Given the description of an element on the screen output the (x, y) to click on. 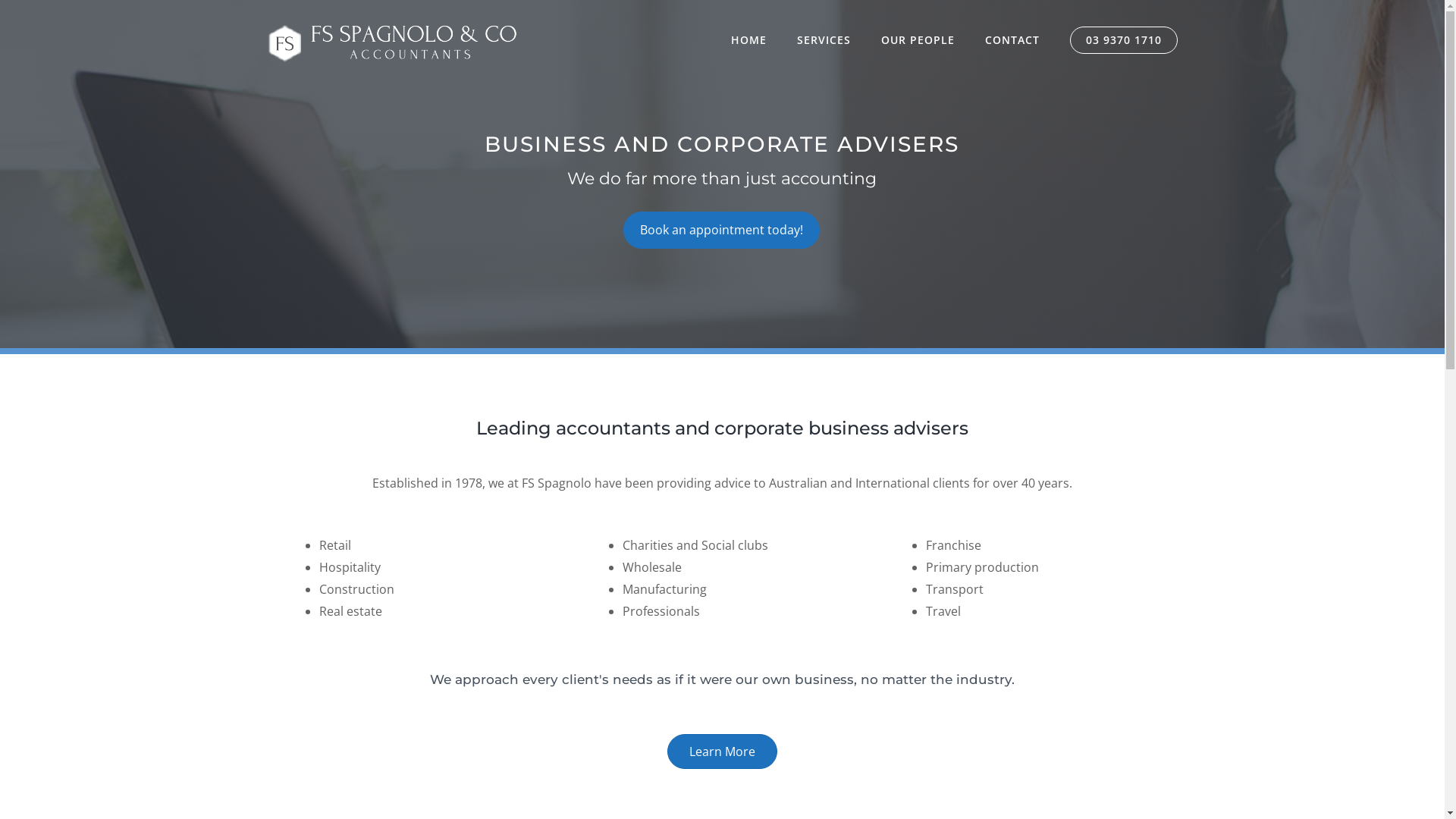
OUR PEOPLE Element type: text (917, 39)
SERVICES Element type: text (823, 39)
FS SPAGNOLO Element type: hover (391, 42)
Learn More Element type: text (722, 751)
HOME Element type: text (748, 39)
Book an appointment today! Element type: text (721, 229)
03 9370 1710 Element type: text (1122, 39)
CONTACT Element type: text (1011, 39)
FS SPAGNOLO Element type: hover (391, 41)
